Given the description of an element on the screen output the (x, y) to click on. 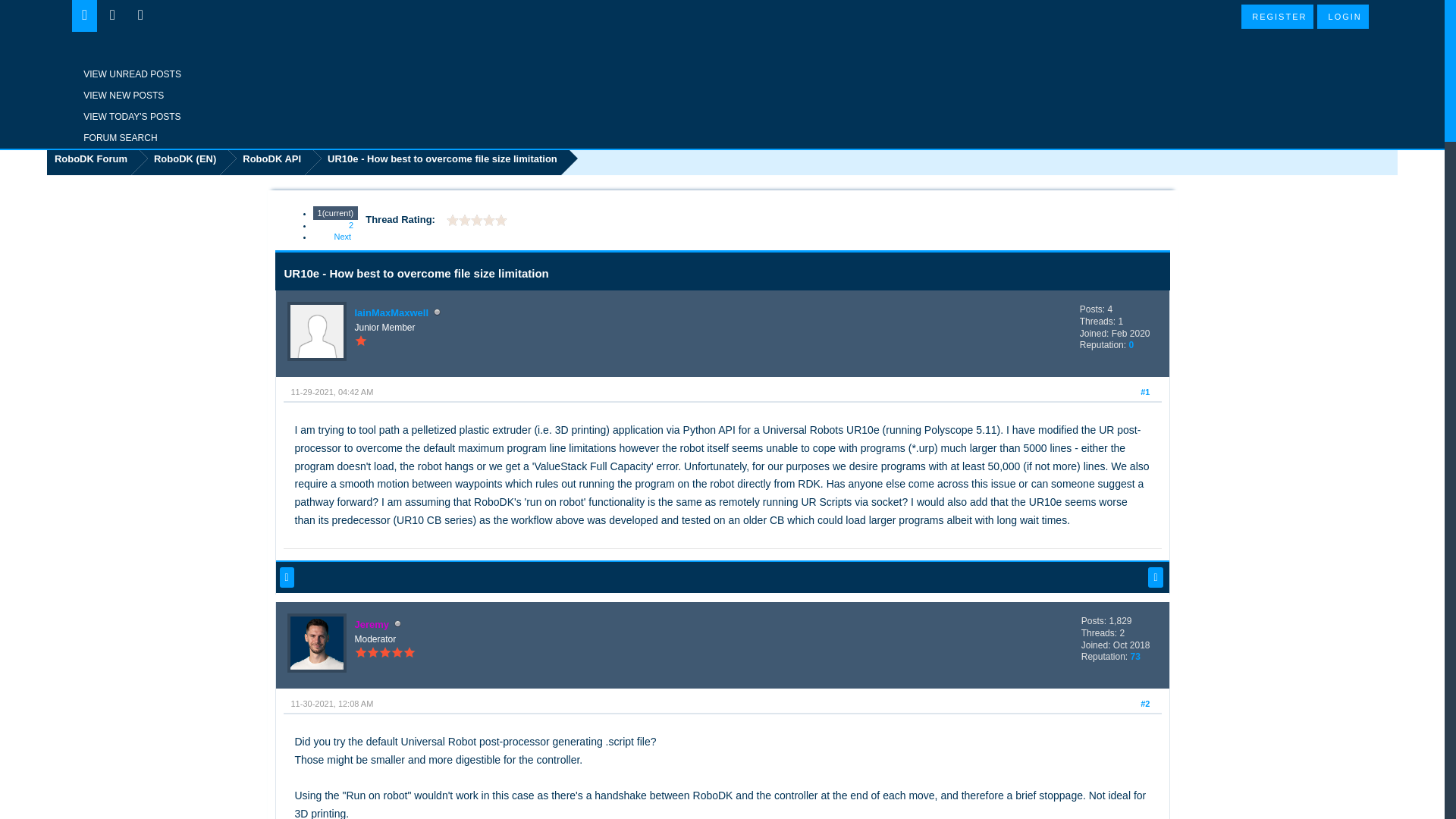
1 star out of 5 (452, 219)
REGISTER (1277, 17)
3 stars out of 5 (464, 219)
2 (350, 224)
Offline (437, 312)
Search (208, 137)
UR10e - How best to overcome file size limitation (432, 158)
4 stars out of 5 (470, 219)
RoboDK Forum (88, 158)
5 stars out of 5 (476, 219)
VIEW NEW POSTS (208, 95)
RoboDK Forum (722, 78)
VIEW TODAY'S POSTS (208, 116)
2 stars out of 5 (458, 219)
VIEW UNREAD POSTS (208, 74)
